Given the description of an element on the screen output the (x, y) to click on. 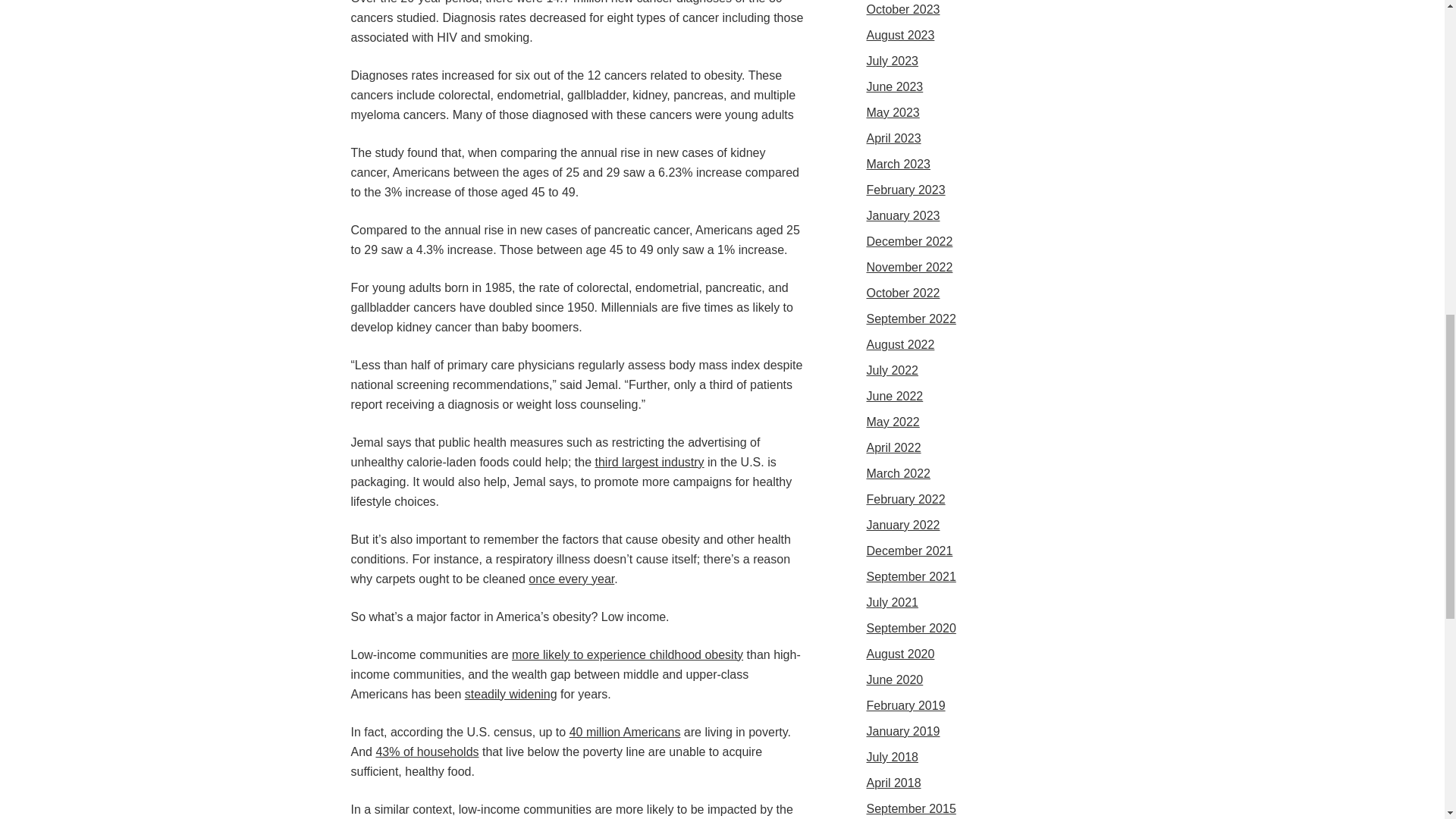
40 million Americans (625, 731)
steadily widening (510, 694)
more likely to experience childhood obesity (627, 654)
once every year (571, 578)
third largest industry (648, 461)
